Given the description of an element on the screen output the (x, y) to click on. 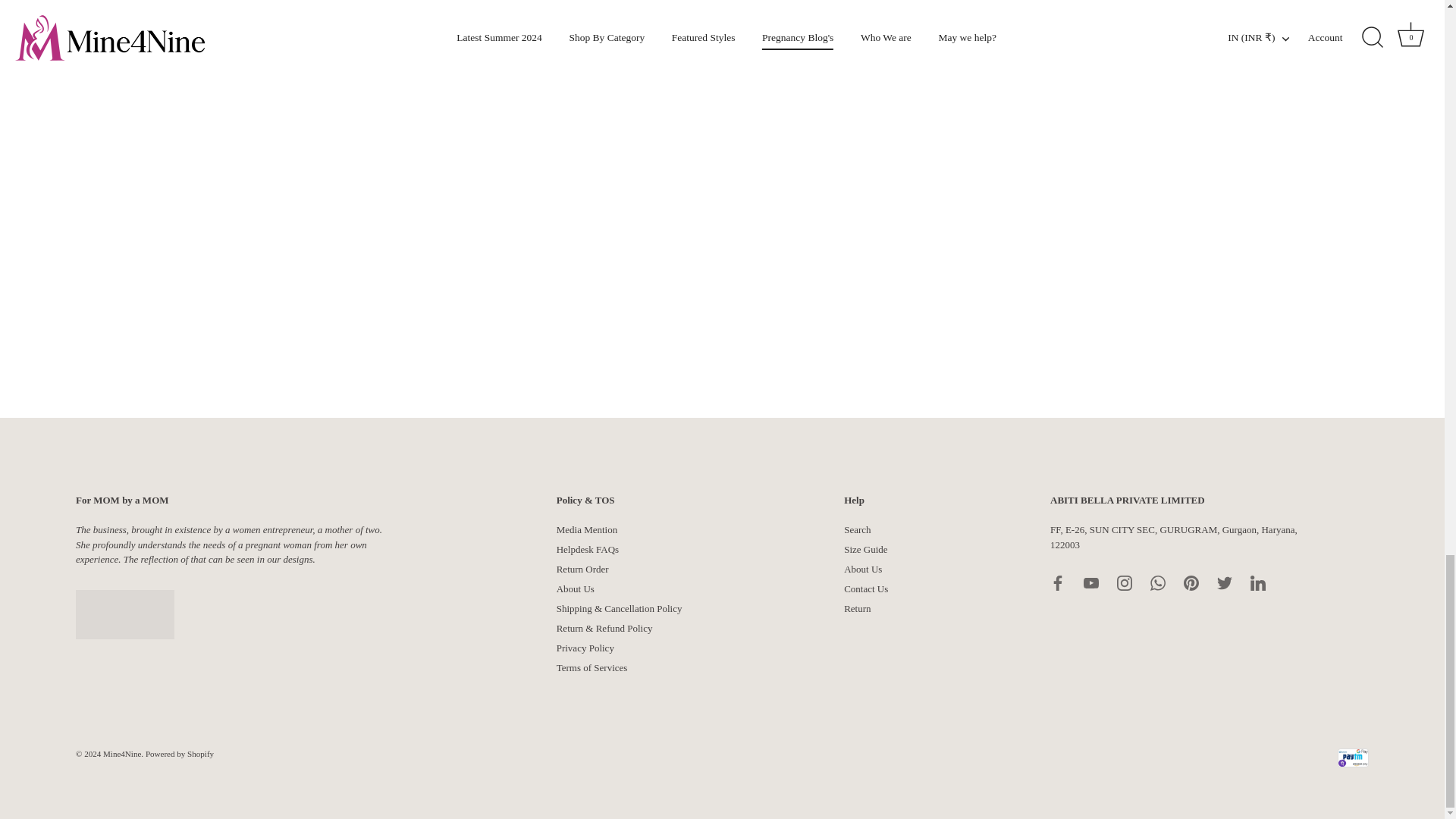
Instagram (1124, 582)
Twitter (1224, 582)
Pinterest (1190, 582)
Youtube (1091, 582)
